Given the description of an element on the screen output the (x, y) to click on. 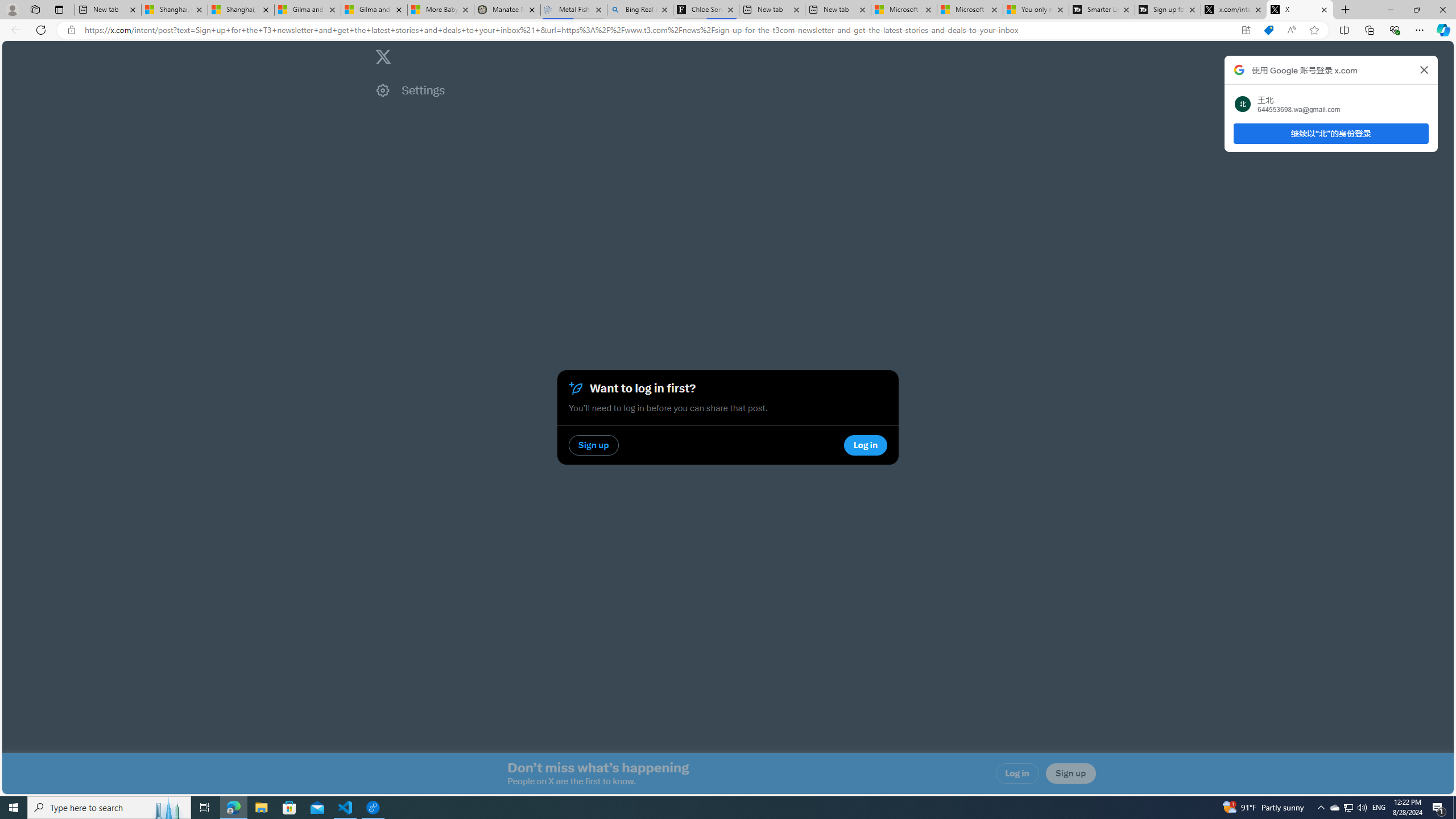
Log in (1017, 773)
Manatee Mortality Statistics | FWC (507, 9)
Shopping in Microsoft Edge (1268, 29)
